Given the description of an element on the screen output the (x, y) to click on. 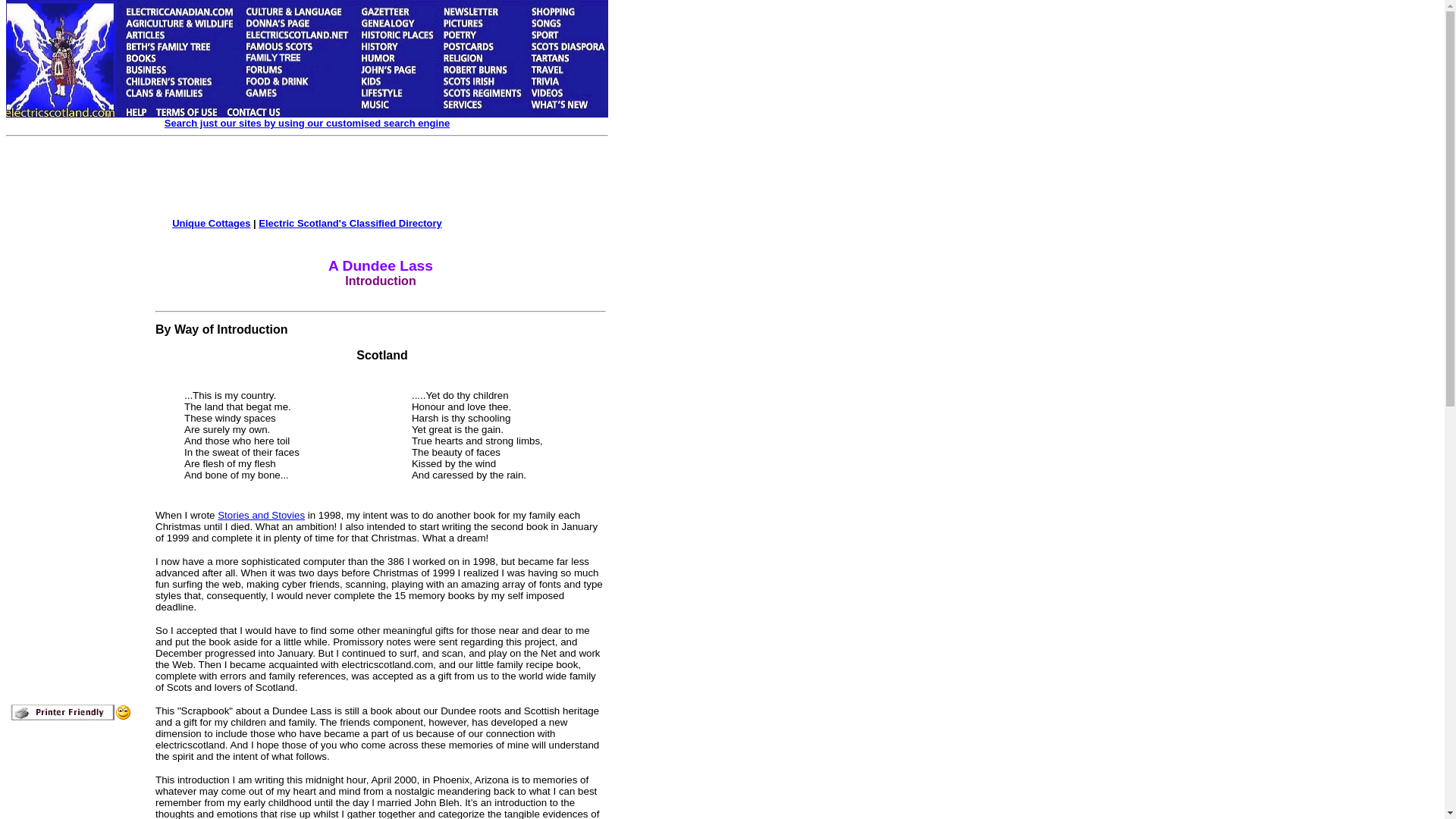
advertisement (334, 178)
Unique Cottages (210, 223)
Stories and Stovies (260, 514)
Search just our sites by using our customised search engine (306, 122)
Electric Scotland's Classified Directory (350, 223)
